Given the description of an element on the screen output the (x, y) to click on. 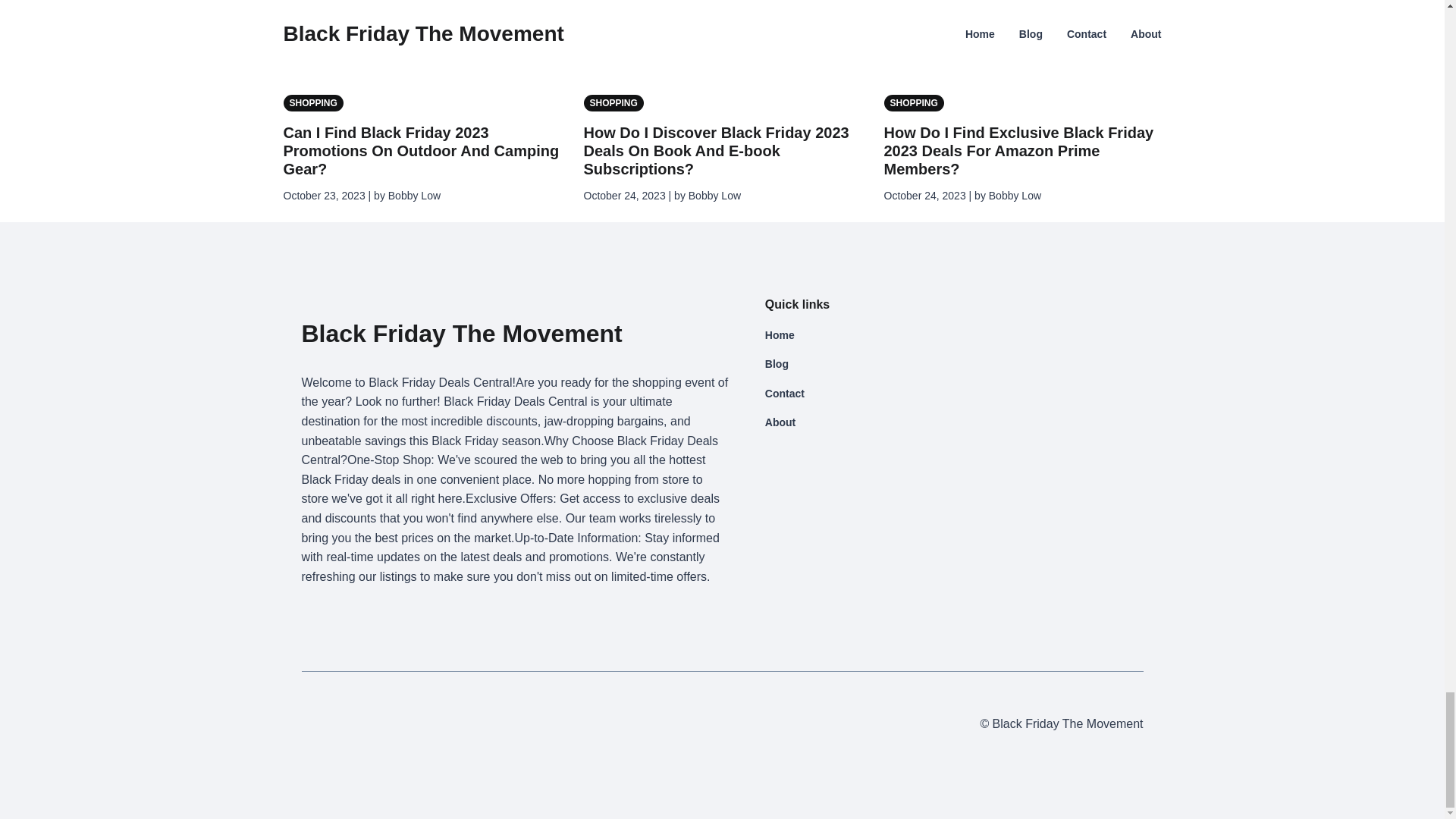
SHOPPING (916, 102)
SHOPPING (616, 102)
Blog (850, 363)
SHOPPING (316, 102)
Home (850, 334)
